Given the description of an element on the screen output the (x, y) to click on. 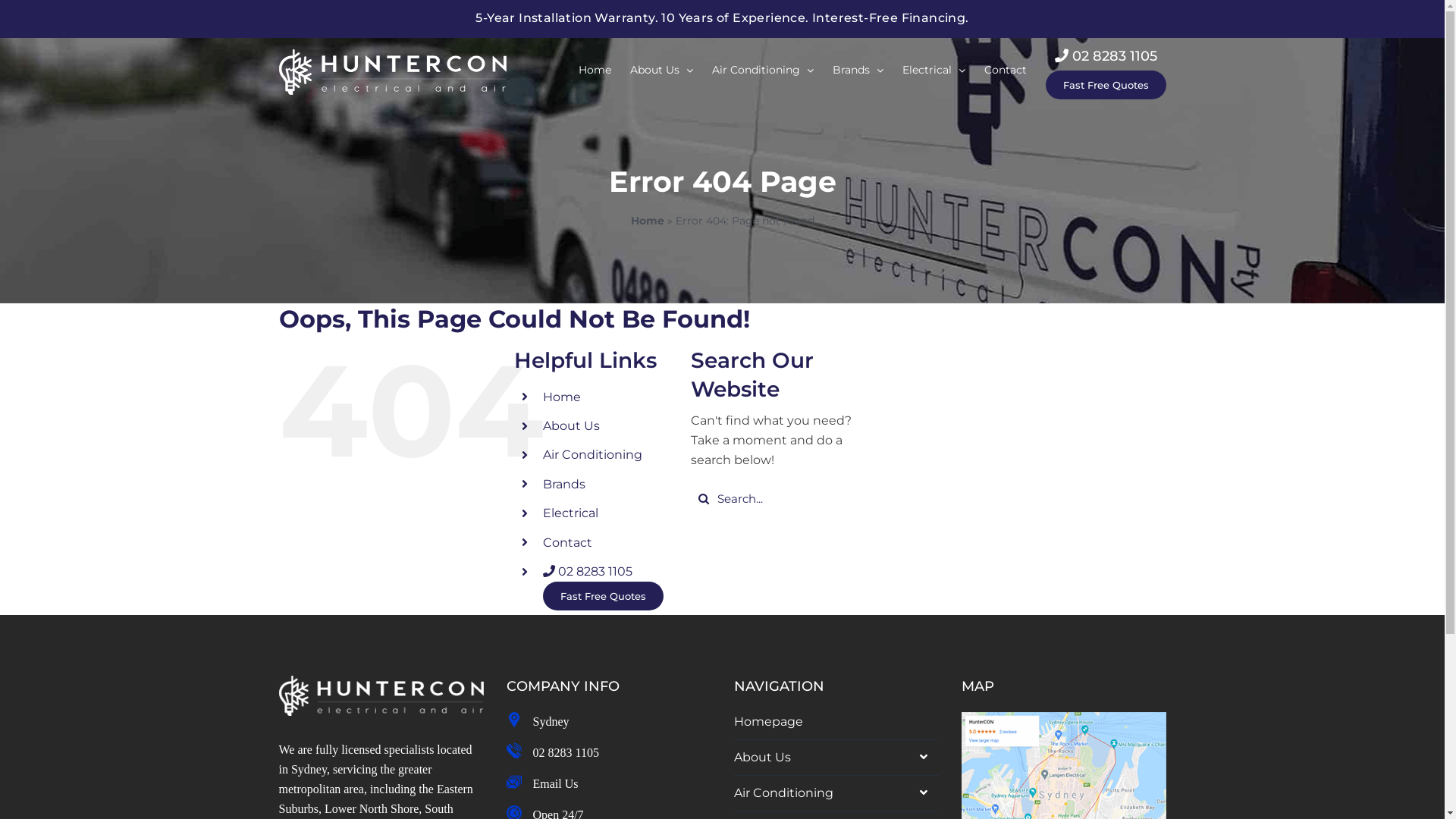
Home Element type: text (561, 396)
About Us Element type: text (836, 757)
Electrical Element type: text (933, 69)
Home Element type: text (593, 69)
02 8283 1105 Element type: text (565, 752)
About Us Element type: text (660, 69)
Contact Element type: text (567, 542)
Contact Element type: text (1005, 69)
02 8283 1105 Element type: text (1104, 55)
About Us Element type: text (570, 425)
Brands Element type: text (857, 69)
Sydney Element type: text (550, 721)
Air Conditioning Element type: text (836, 793)
Home Element type: text (647, 220)
Fast Free Quotes Element type: text (1104, 84)
Brands Element type: text (563, 483)
Air Conditioning Element type: text (761, 69)
Air Conditioning Element type: text (592, 454)
Homepage Element type: text (836, 721)
02 8283 1105 Element type: text (587, 571)
Email Us Element type: text (554, 783)
Fast Free Quotes Element type: text (602, 595)
Electrical Element type: text (570, 512)
